Given the description of an element on the screen output the (x, y) to click on. 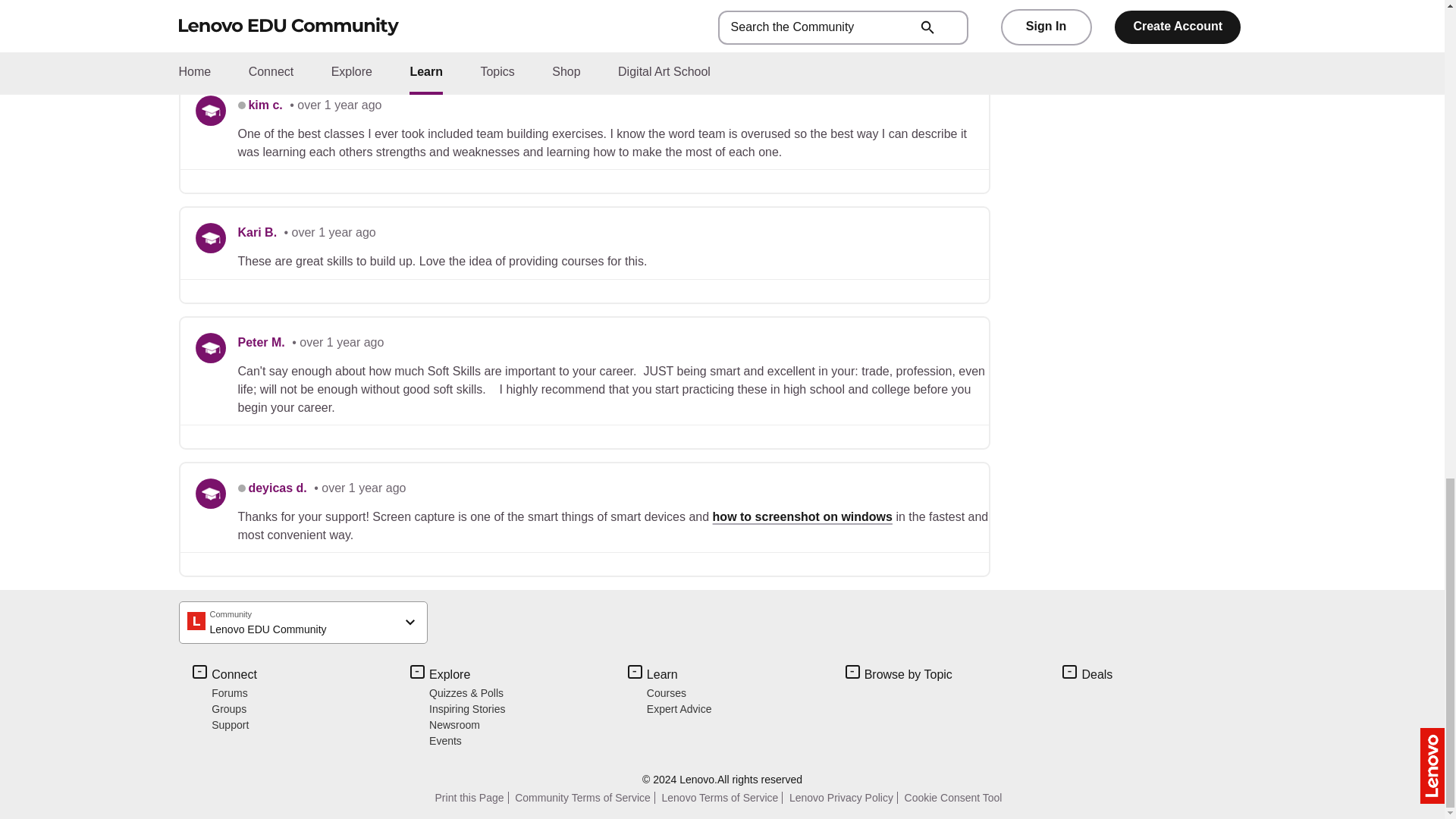
Lenovo Privacy Policy (843, 797)
Lenovo Terms of Service (722, 797)
Print this Page (471, 797)
Cookie Consent Tool (955, 797)
Community Terms of Service (585, 797)
